Given the description of an element on the screen output the (x, y) to click on. 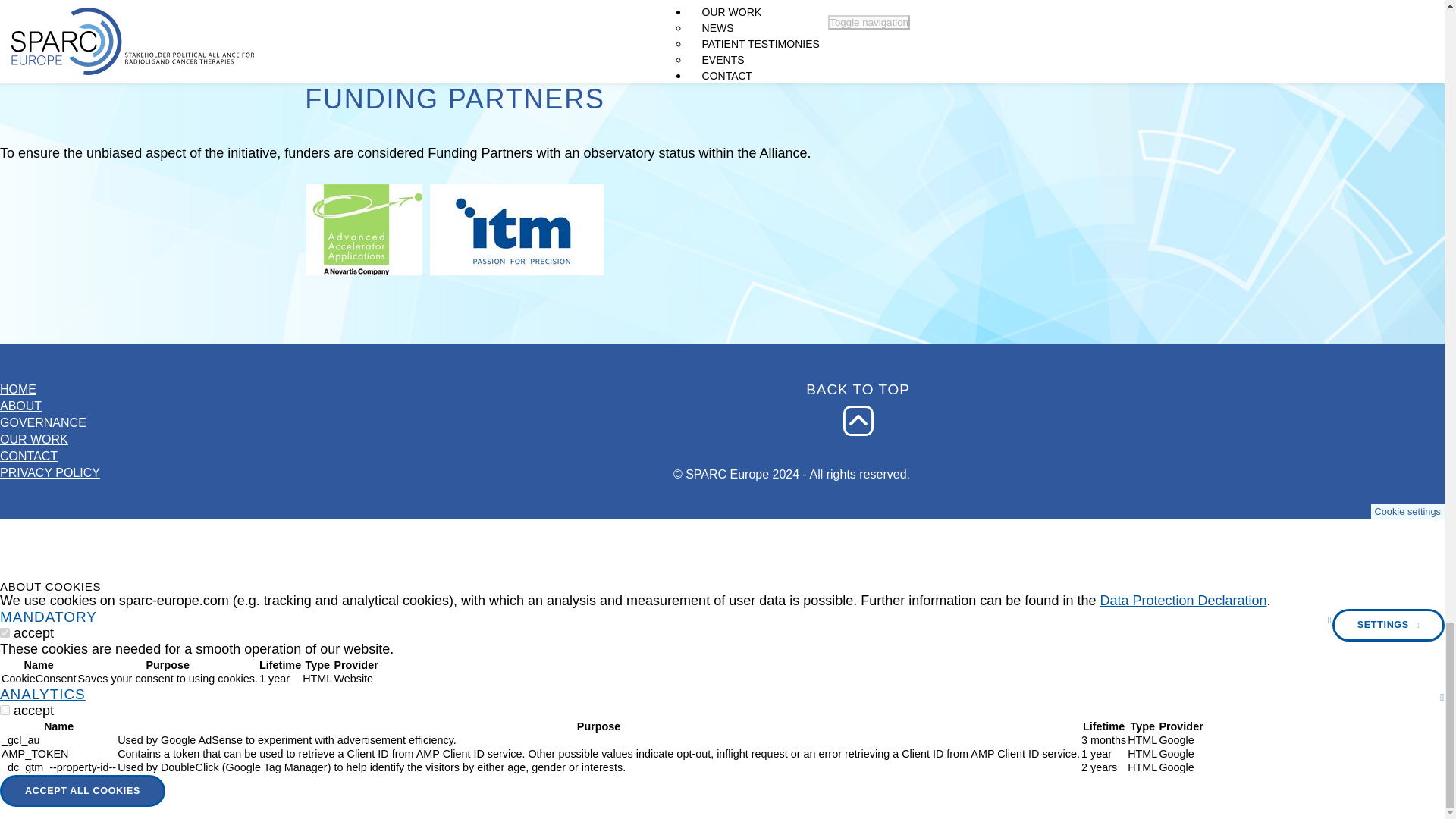
ABOUT (50, 406)
BACK TO TOP (858, 419)
Data Protection Declaration (1182, 600)
GOVERNANCE (50, 422)
Our work (50, 439)
Contact (50, 456)
Privacy Policy (50, 473)
OUR WORK (50, 439)
About (50, 406)
Governance (50, 422)
HOME (50, 389)
on (5, 633)
CONTACT (50, 456)
Home (50, 389)
on (5, 709)
